Given the description of an element on the screen output the (x, y) to click on. 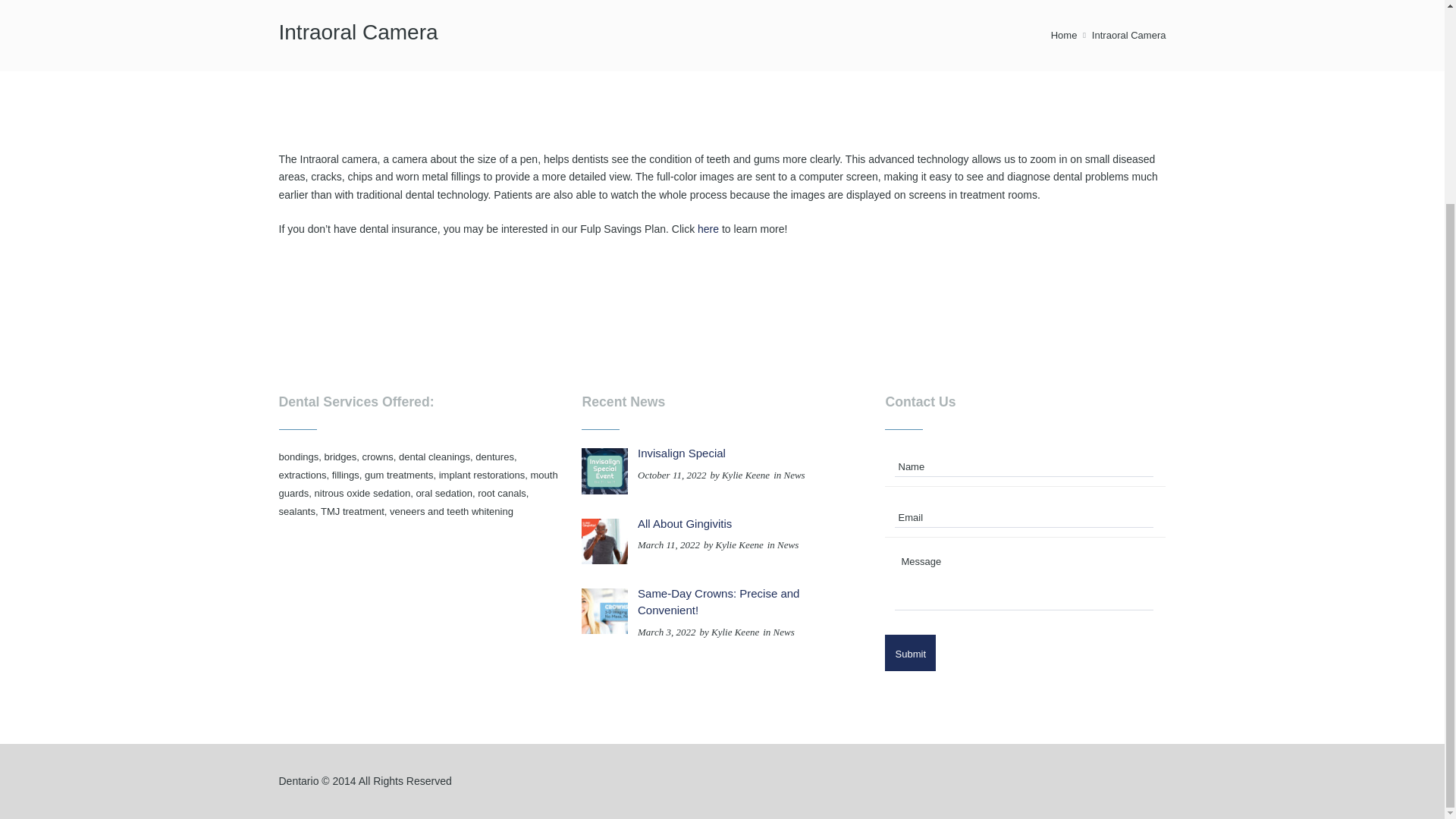
Home (1064, 35)
here (708, 228)
Submit (910, 652)
